Given the description of an element on the screen output the (x, y) to click on. 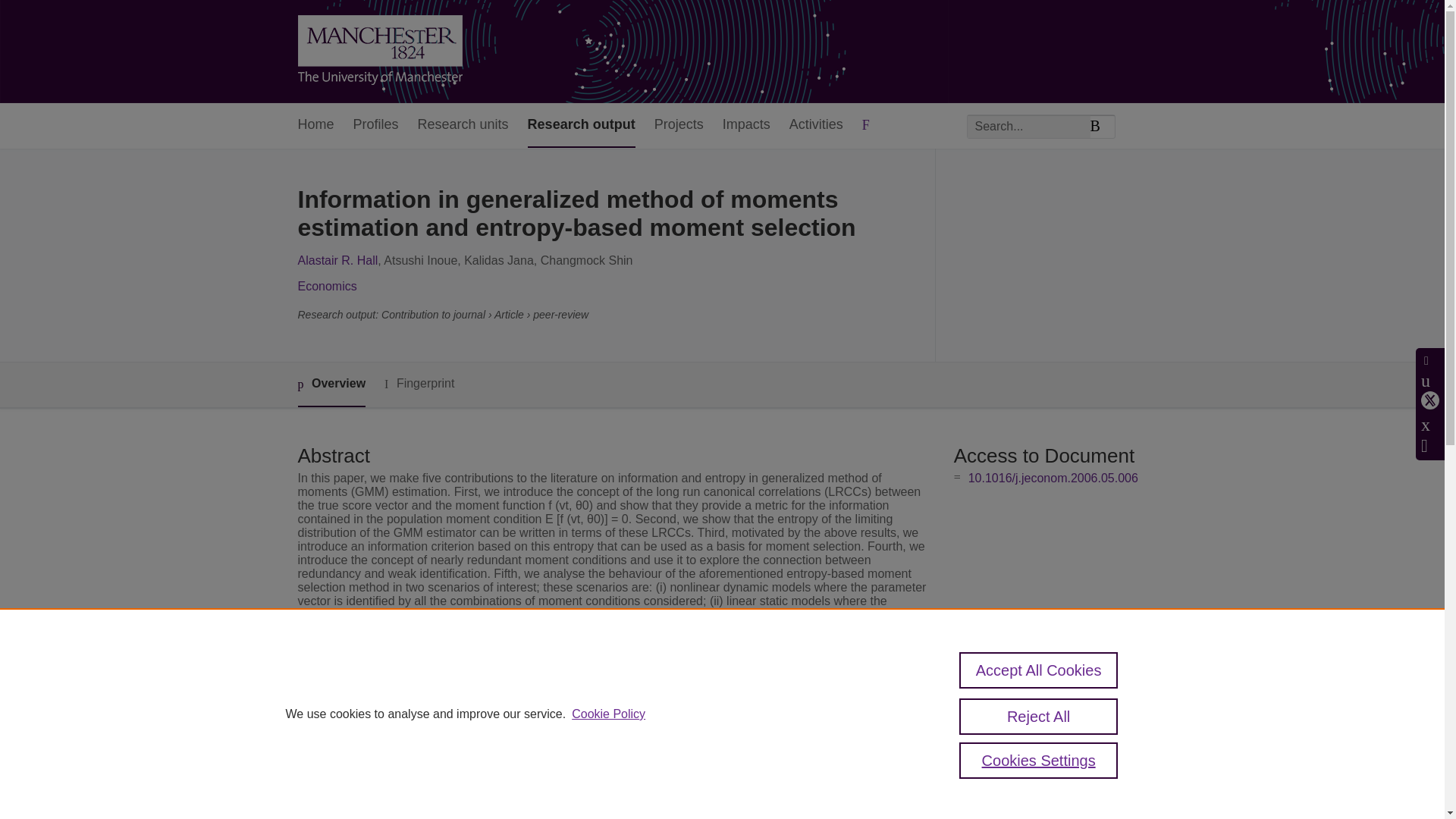
Profiles (375, 125)
Research output (580, 125)
Overview (331, 384)
Impacts (746, 125)
Activities (816, 125)
Research units (462, 125)
Alastair R. Hall (337, 259)
Economics (326, 286)
Fingerprint (419, 383)
Projects (678, 125)
Research Explorer The University of Manchester Home (379, 51)
Journal of Econometrics (574, 732)
